Given the description of an element on the screen output the (x, y) to click on. 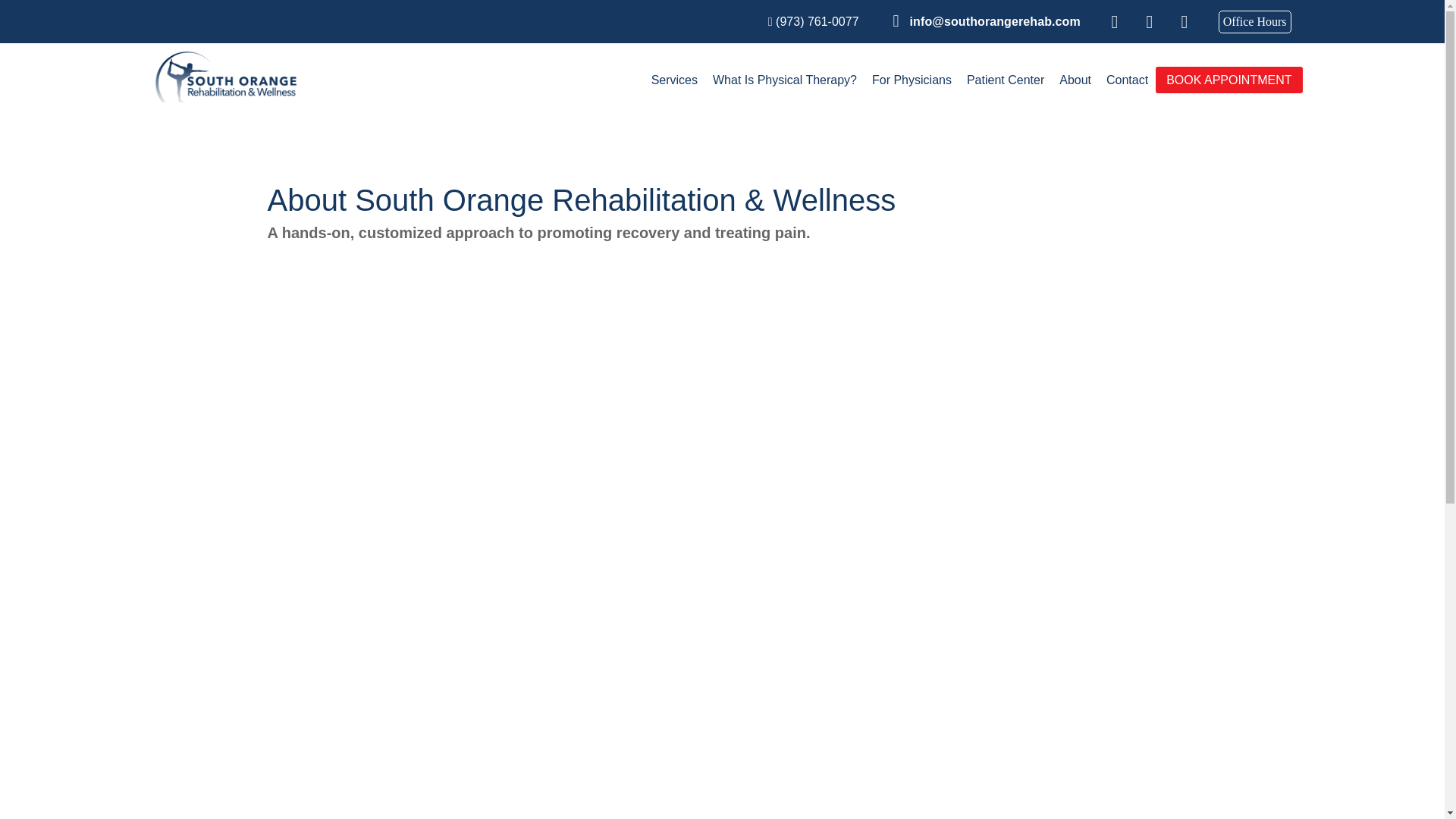
Social item (1149, 21)
What Is Physical Therapy? (784, 79)
Office Hours (1254, 21)
About (1075, 79)
Patient Center (1005, 79)
Contact (1127, 79)
For Physicians (911, 79)
Social item (1184, 21)
Services (673, 79)
BOOK APPOINTMENT (1228, 79)
